Given the description of an element on the screen output the (x, y) to click on. 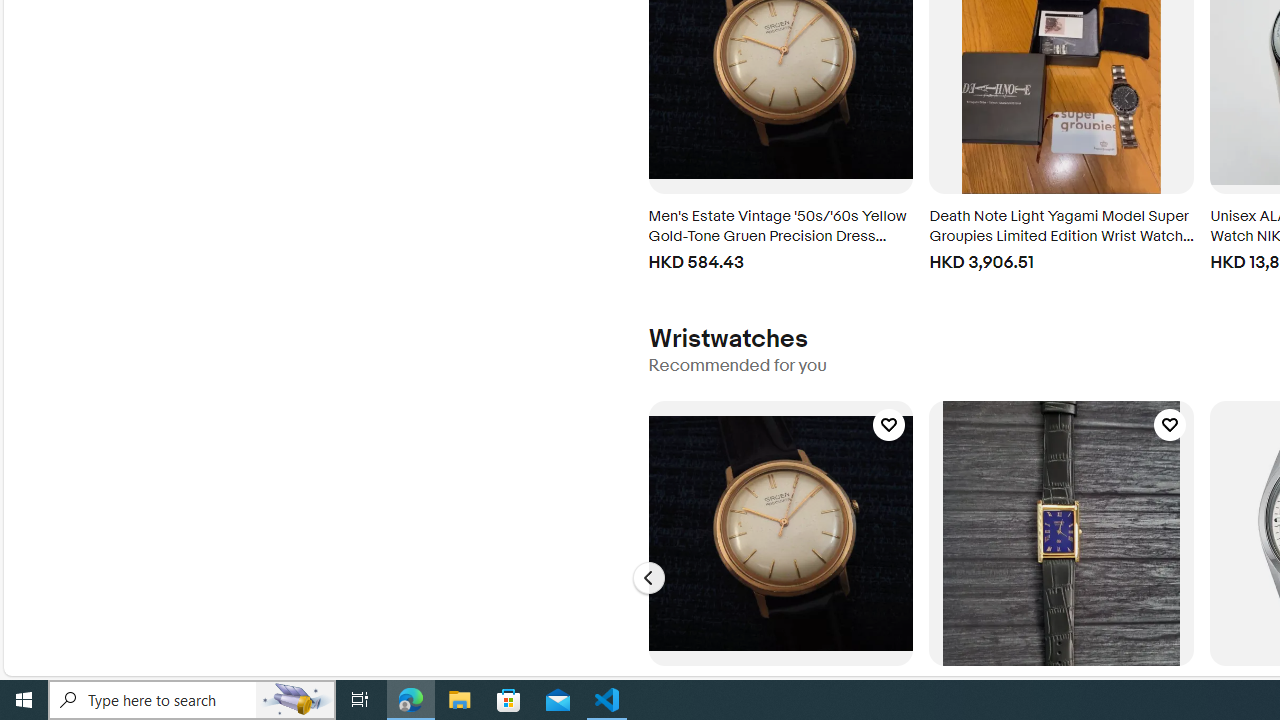
Wristwatches (727, 338)
Go to the previous slide, Wristwatches - Carousel (648, 578)
